Given the description of an element on the screen output the (x, y) to click on. 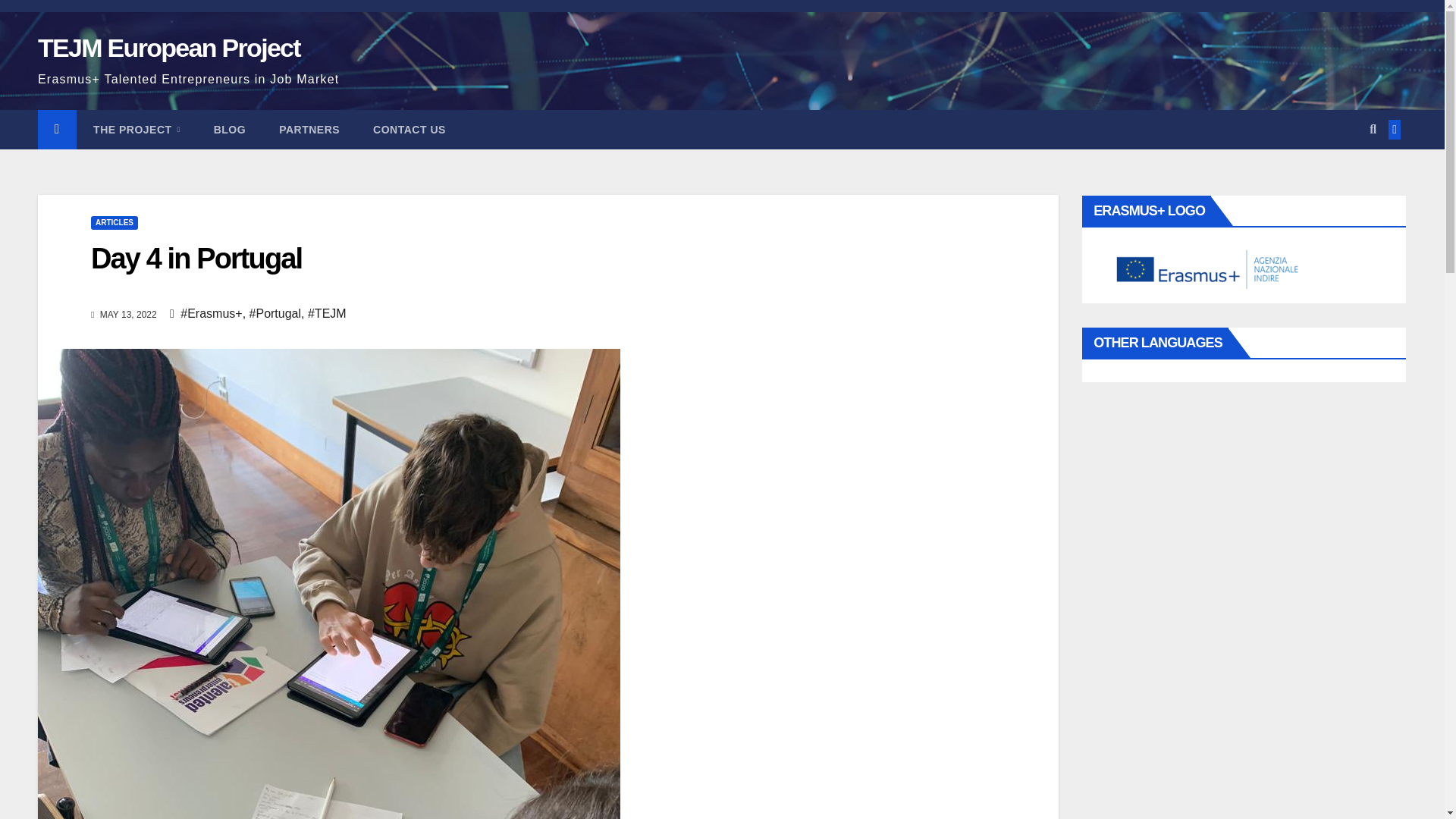
CONTACT US (409, 129)
TEJM European Project (168, 47)
BLOG (229, 129)
Permalink to: Day 4 in Portugal (195, 258)
Contact us (409, 129)
THE PROJECT (136, 129)
The Project (136, 129)
ARTICLES (114, 223)
PARTNERS (309, 129)
Blog (229, 129)
